Given the description of an element on the screen output the (x, y) to click on. 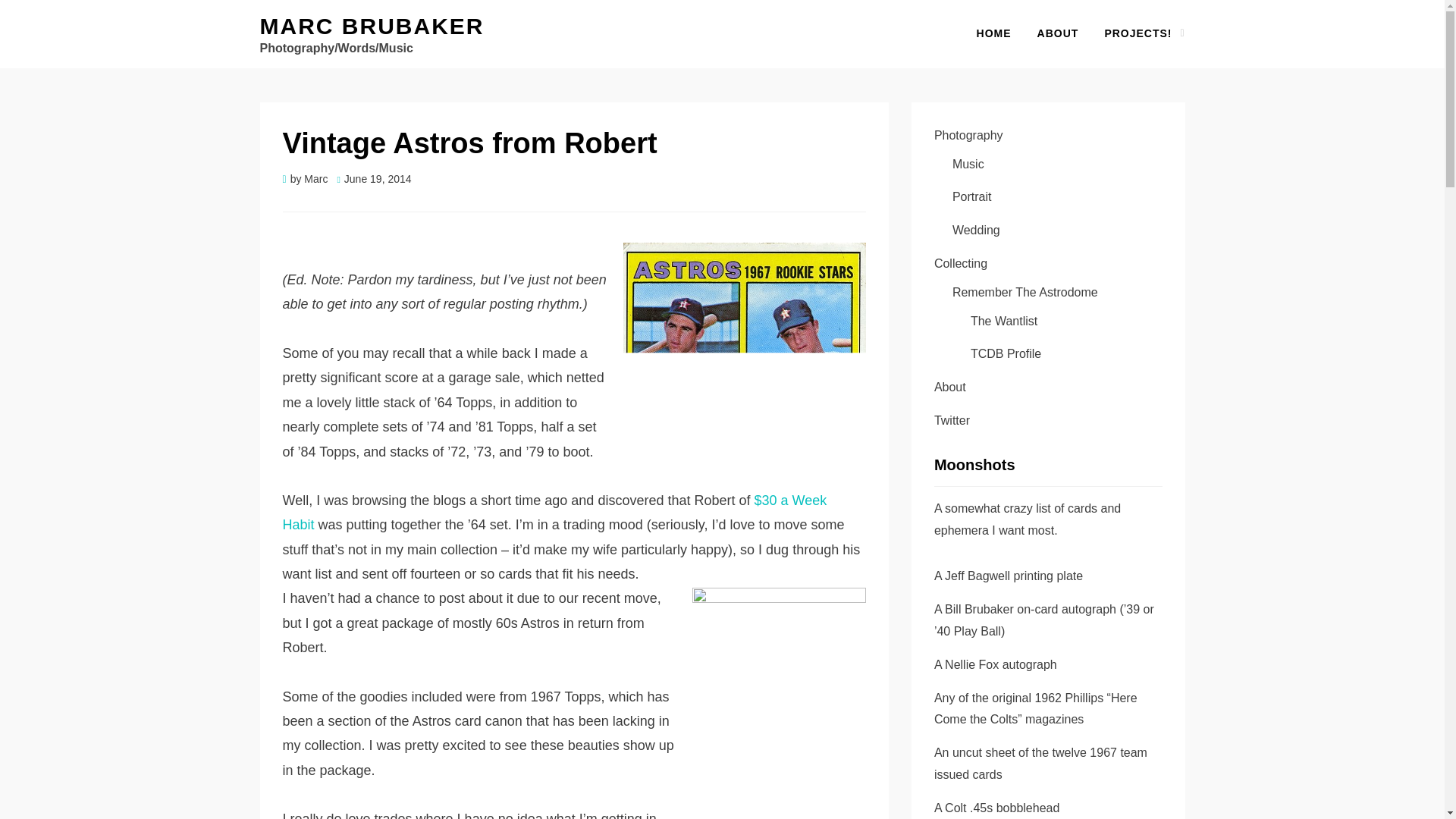
Marc (315, 178)
ABOUT (1058, 33)
June 19, 2014 (373, 178)
PROJECTS! (1137, 33)
HOME (994, 33)
MARC BRUBAKER (371, 25)
Marc Brubaker (371, 25)
